Given the description of an element on the screen output the (x, y) to click on. 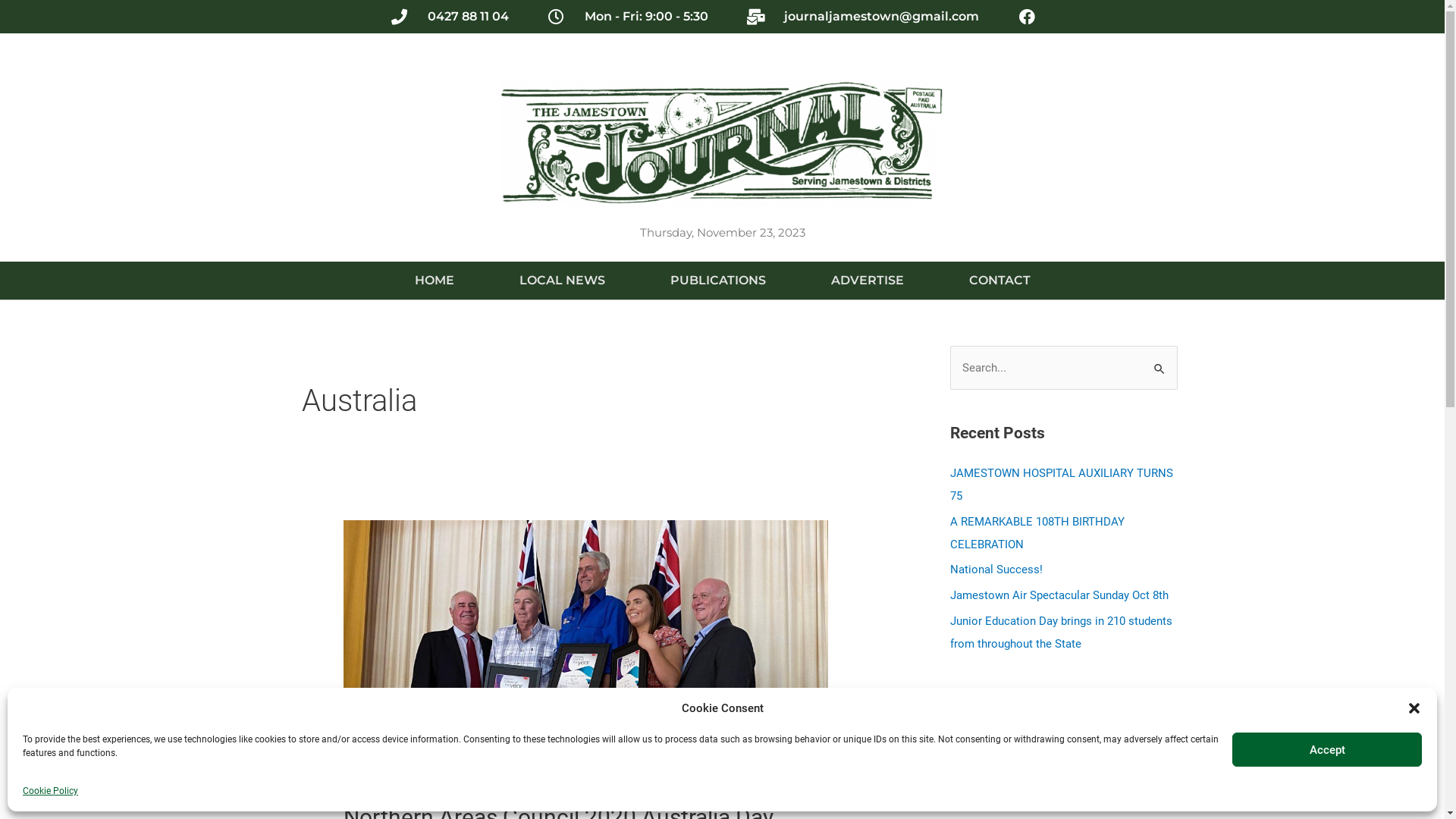
journaljamestown@gmail.com Element type: text (862, 16)
Jamestown Air Spectacular Sunday Oct 8th Element type: text (1058, 595)
Search Element type: text (1160, 360)
HOME Element type: text (433, 280)
A REMARKABLE 108TH BIRTHDAY CELEBRATION Element type: text (1036, 532)
JAMESTOWN HOSPITAL AUXILIARY TURNS 75 Element type: text (1060, 484)
CONTACT Element type: text (999, 280)
National Success! Element type: text (995, 569)
Accept Element type: text (1326, 749)
ADVERTISE Element type: text (867, 280)
0427 88 11 04 Element type: text (448, 16)
LOCAL NEWS Element type: text (561, 280)
PUBLICATIONS Element type: text (718, 280)
Cookie Policy Element type: text (50, 790)
